Given the description of an element on the screen output the (x, y) to click on. 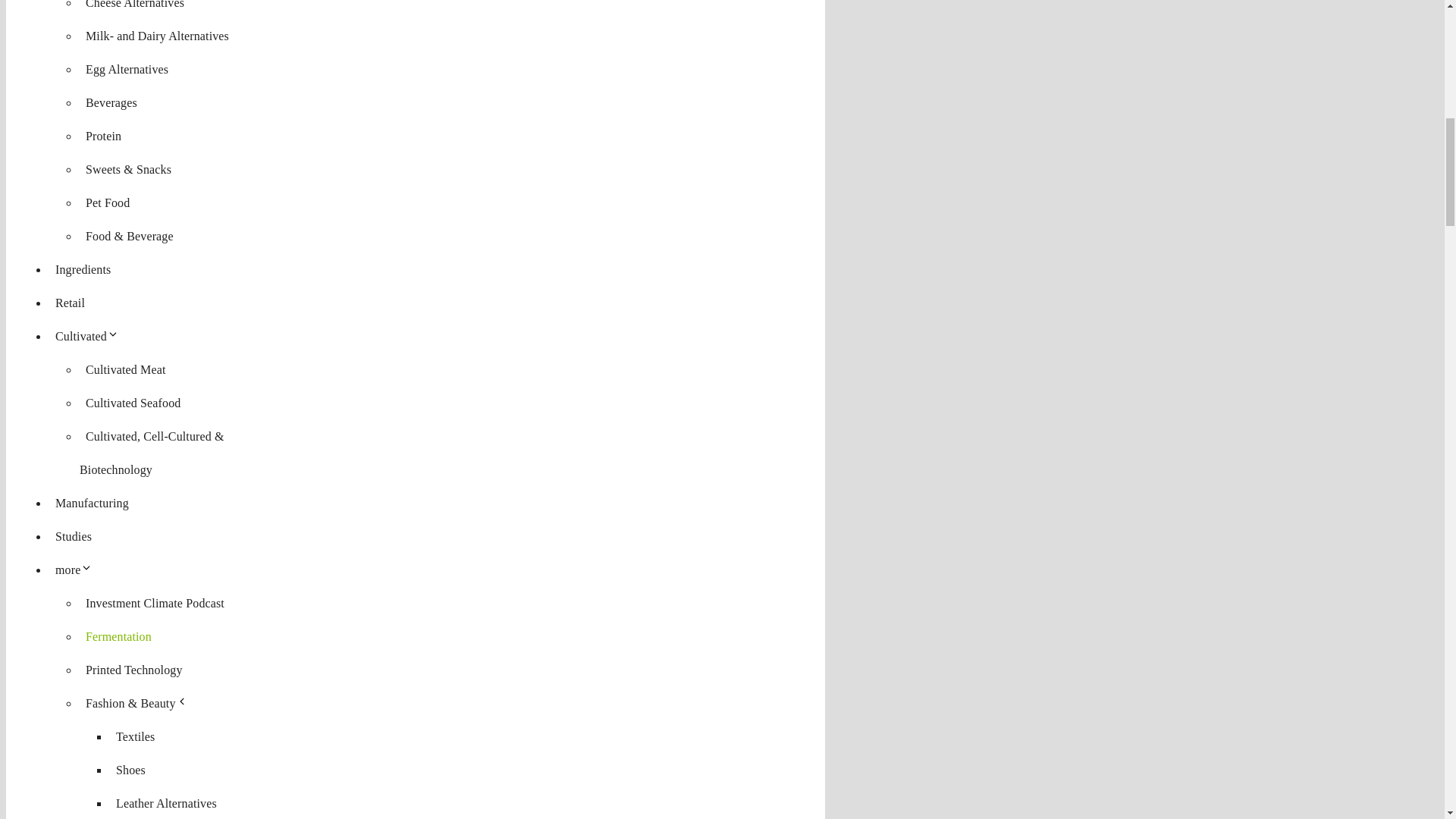
Cultivated Meat (125, 369)
Protein (104, 136)
Pet Food (107, 202)
Cultivated Seafood (133, 402)
Cheese Alternatives (135, 7)
Ingredients (82, 269)
Milk- and Dairy Alternatives (157, 35)
Manufacturing (92, 502)
Egg Alternatives (127, 69)
Studies (73, 535)
more (76, 569)
Cultivated (90, 336)
Retail (69, 302)
Fermentation (118, 636)
Investment Climate Podcast (155, 603)
